Given the description of an element on the screen output the (x, y) to click on. 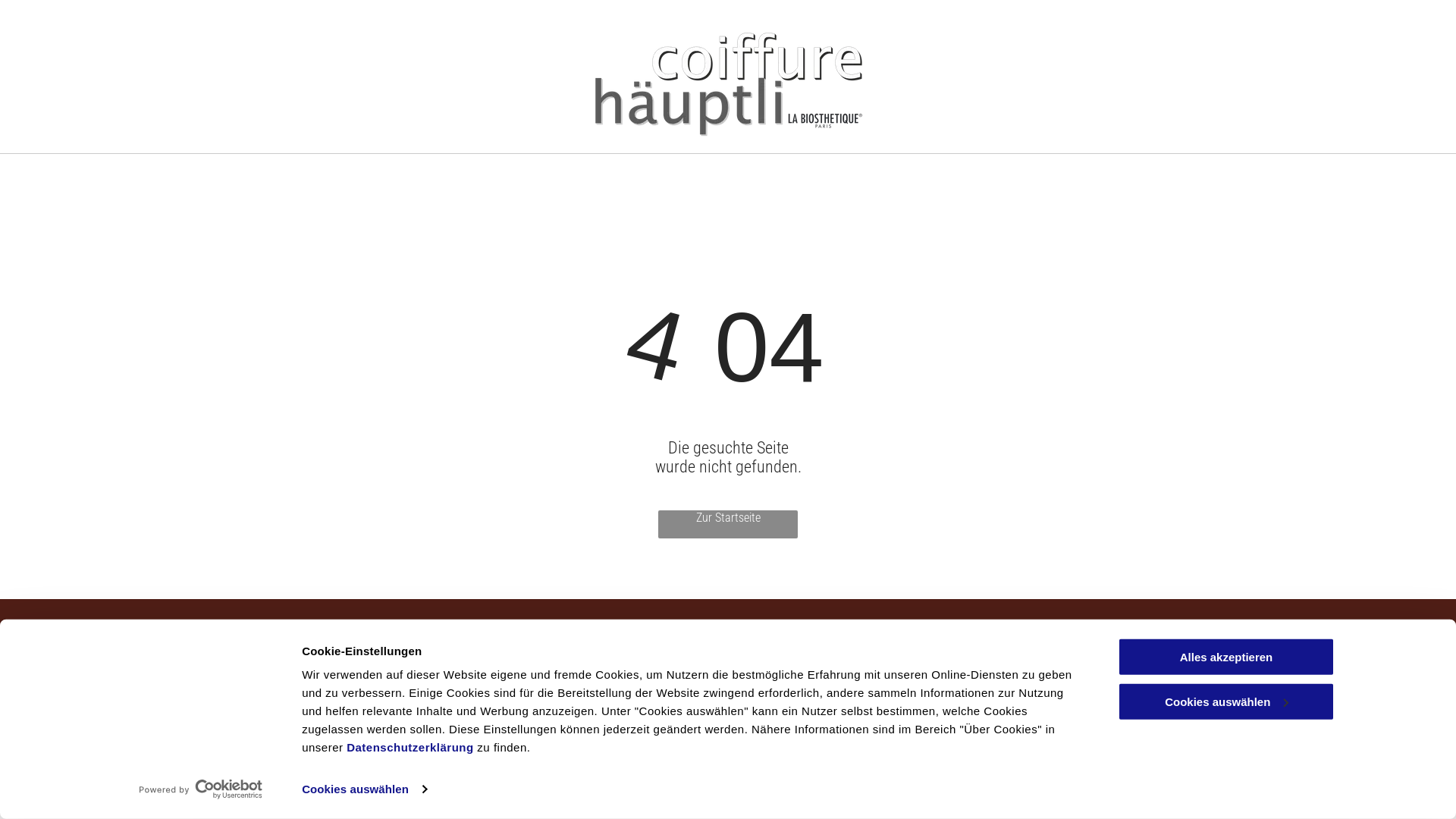
Zur Startseite Element type: text (727, 524)
Impressum Element type: text (1133, 661)
Alles akzeptieren Element type: text (1225, 656)
chr2@bluewin.ch Element type: text (547, 704)
+41 62 794 11 80 Element type: text (547, 661)
